Given the description of an element on the screen output the (x, y) to click on. 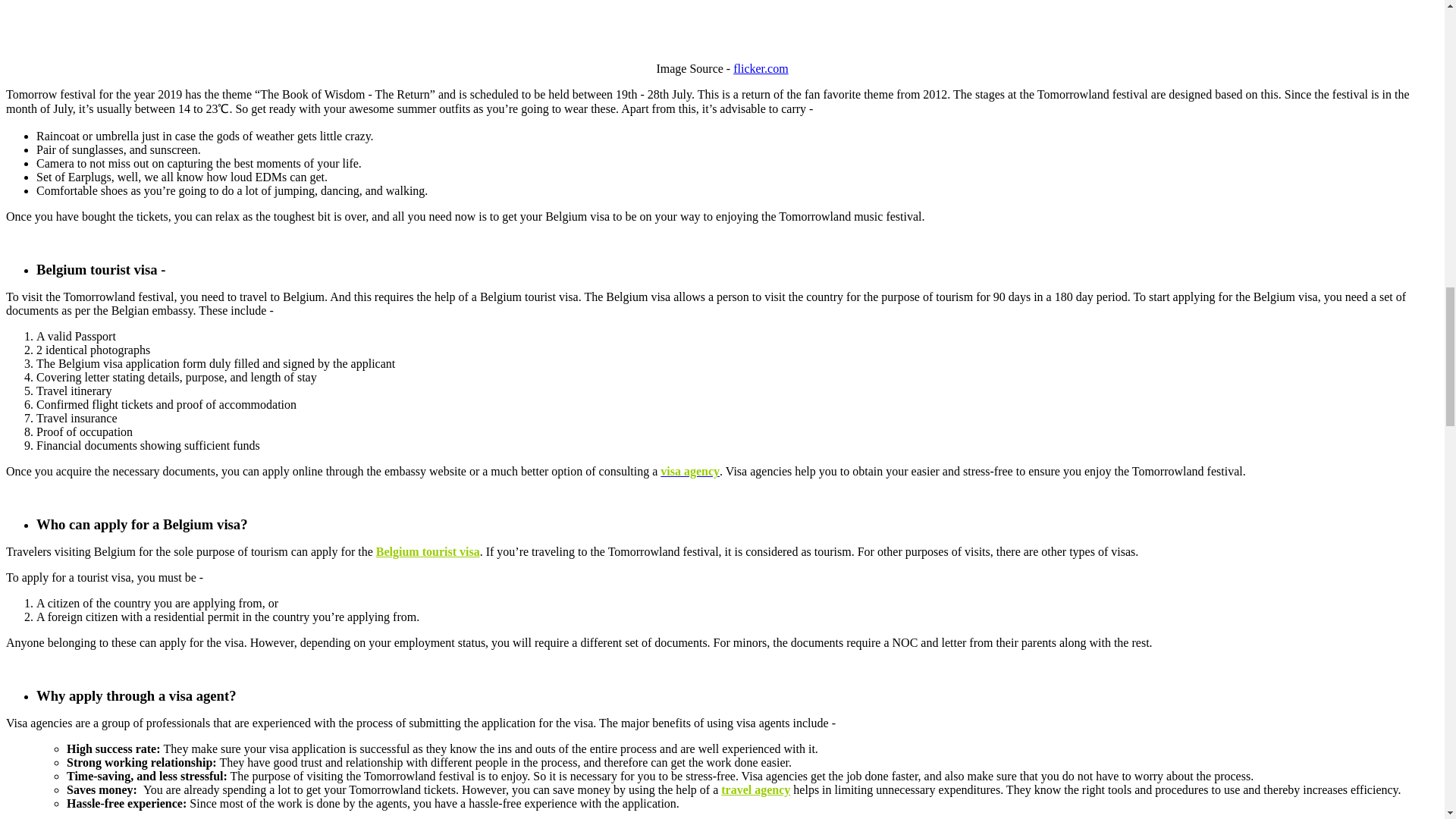
Belgium tourist visa (427, 551)
tomorrowlank ticket (721, 24)
flicker.com (760, 68)
visa agency (690, 471)
travel agency (755, 789)
Belgium tourist visa (427, 551)
tomorrow land (760, 68)
visa agency (690, 471)
travel agency (755, 789)
